Given the description of an element on the screen output the (x, y) to click on. 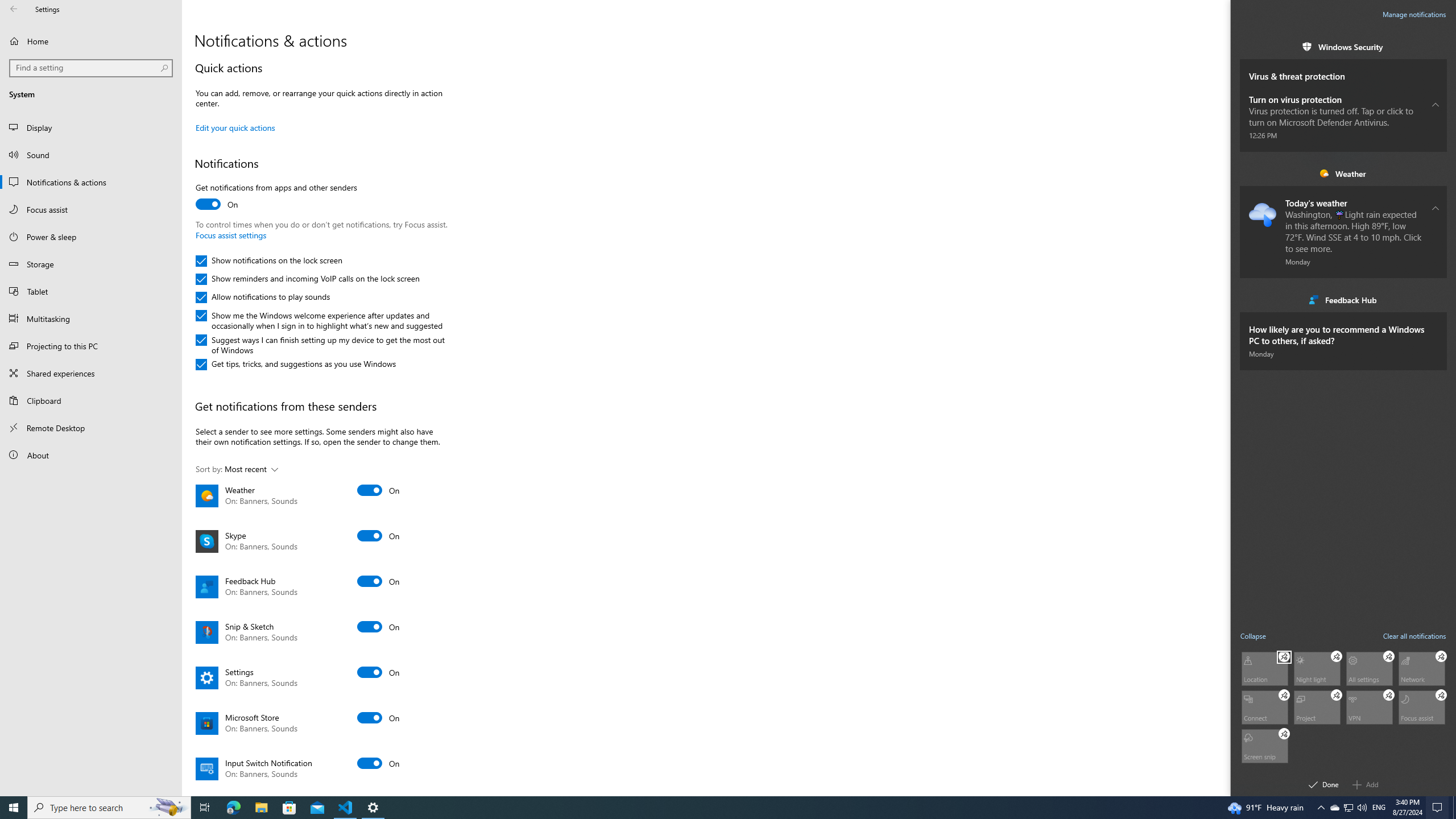
Night light Unpin (1336, 655)
Settings - 1 running window (373, 807)
Project (1316, 706)
Virus & threat protection. . Received on . Subgroup. (1343, 70)
Add quick actions (1365, 784)
Clear all notifications (1415, 635)
